Given the description of an element on the screen output the (x, y) to click on. 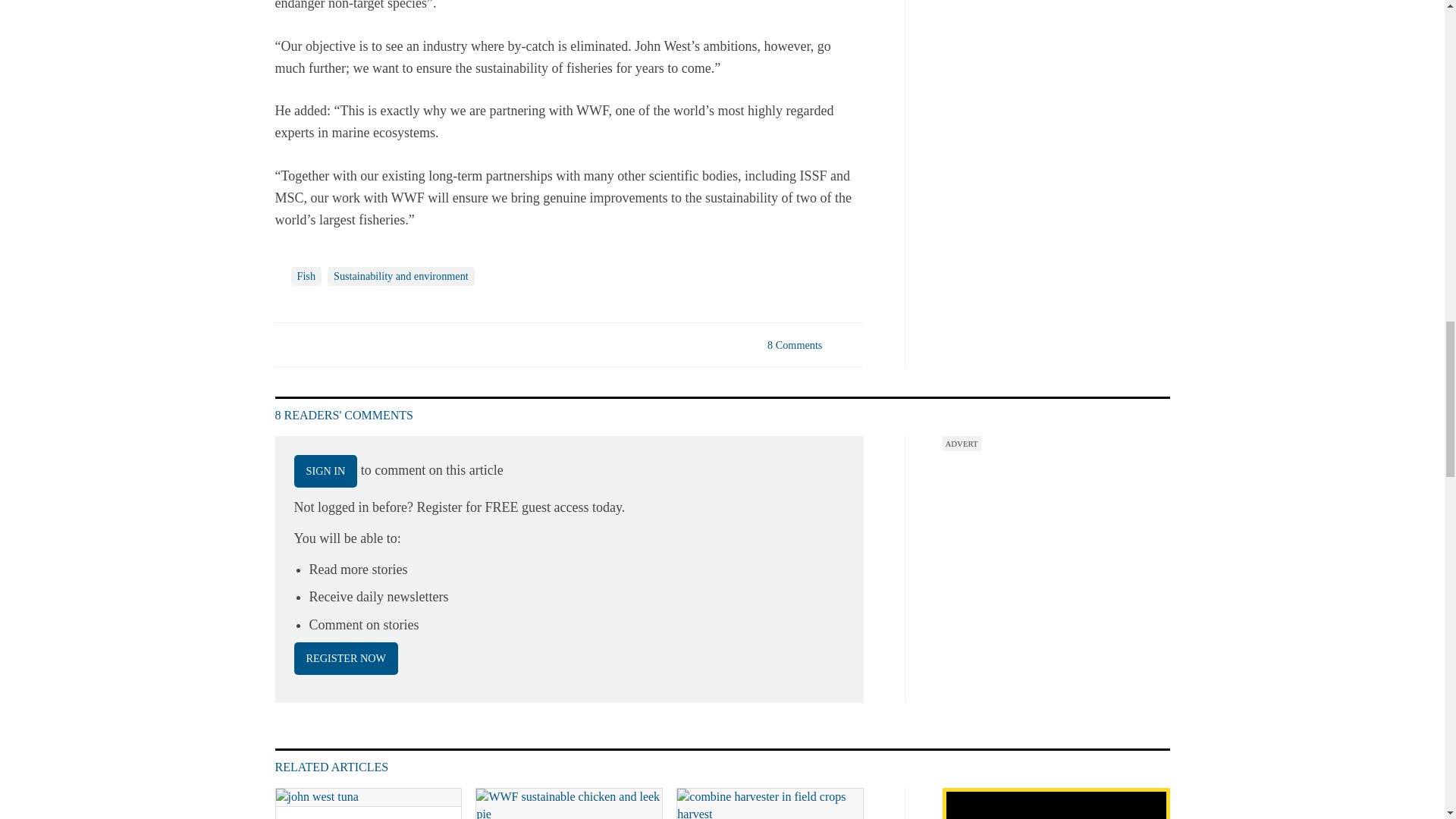
8 Comments (813, 353)
Share this on Facebook (288, 343)
Email this article (386, 343)
Share this on Twitter (320, 343)
Share this on Linked in (352, 343)
